Given the description of an element on the screen output the (x, y) to click on. 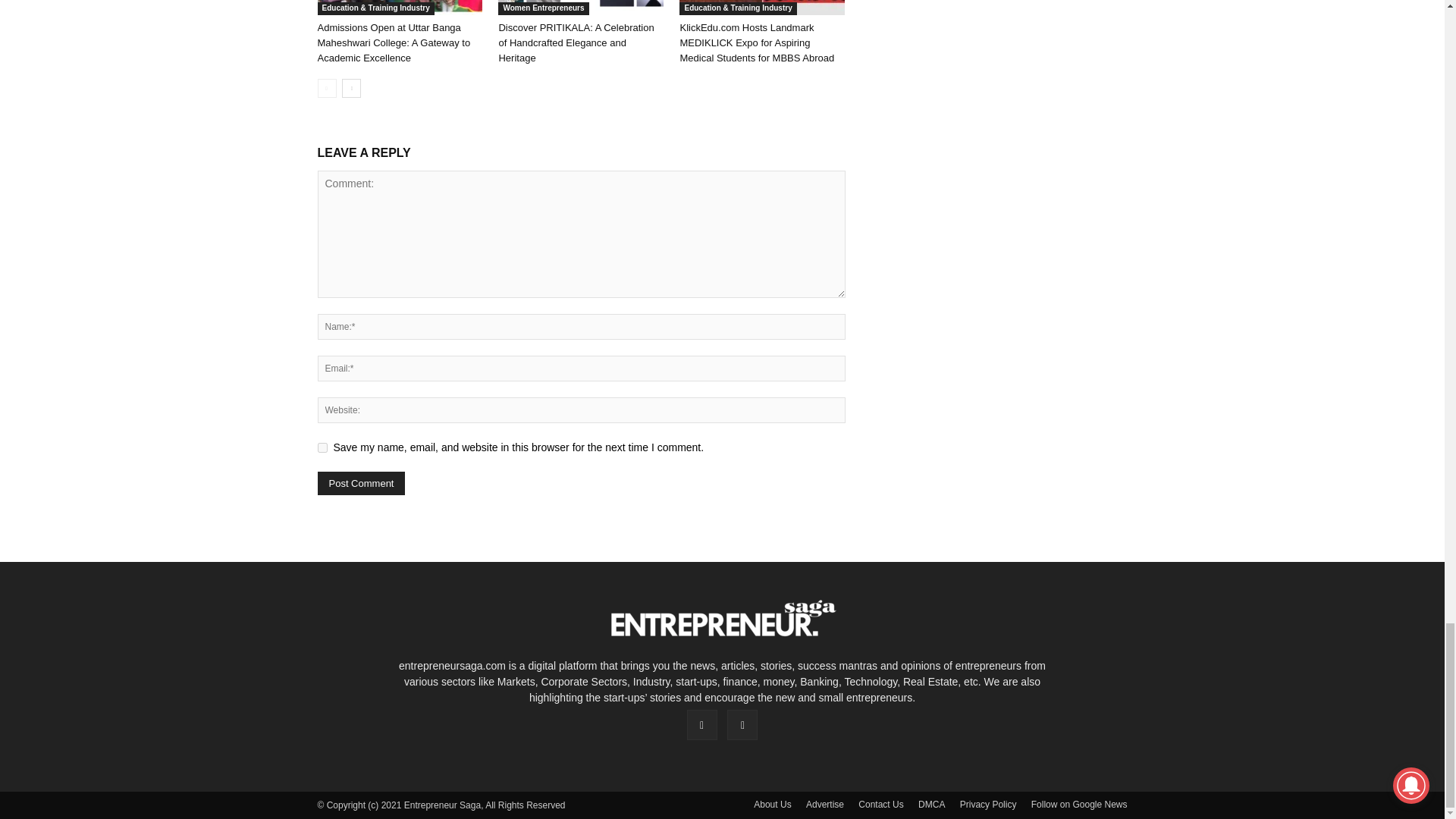
yes (321, 447)
Post Comment (360, 483)
